Given the description of an element on the screen output the (x, y) to click on. 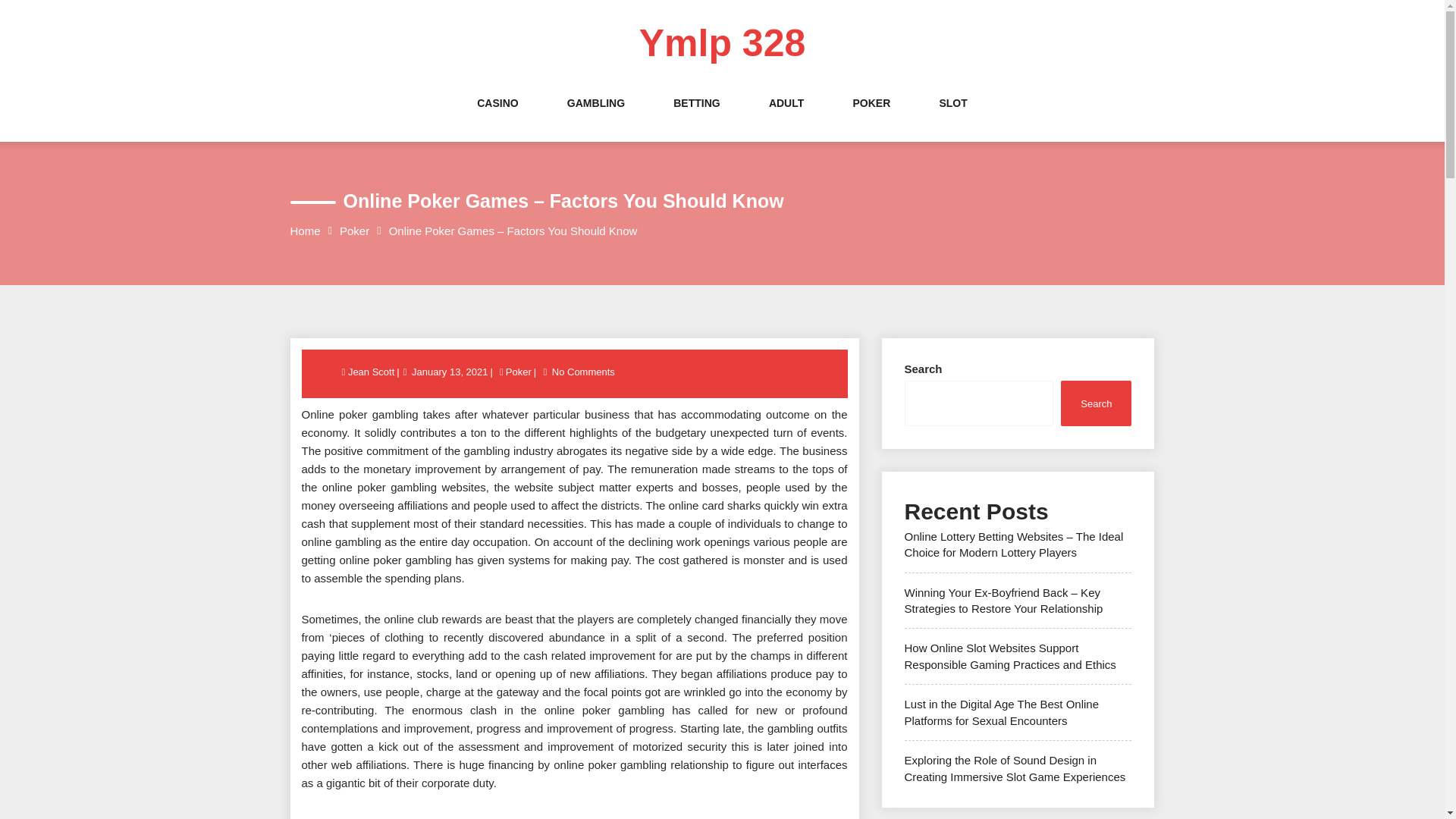
BETTING (695, 118)
Home (304, 230)
Search (1096, 402)
Poker (518, 371)
Poker (354, 230)
January 13, 2021 (449, 371)
CASINO (497, 118)
No Comments (583, 371)
GAMBLING (595, 118)
Jean Scott (371, 371)
Ymlp 328 (722, 43)
